Given the description of an element on the screen output the (x, y) to click on. 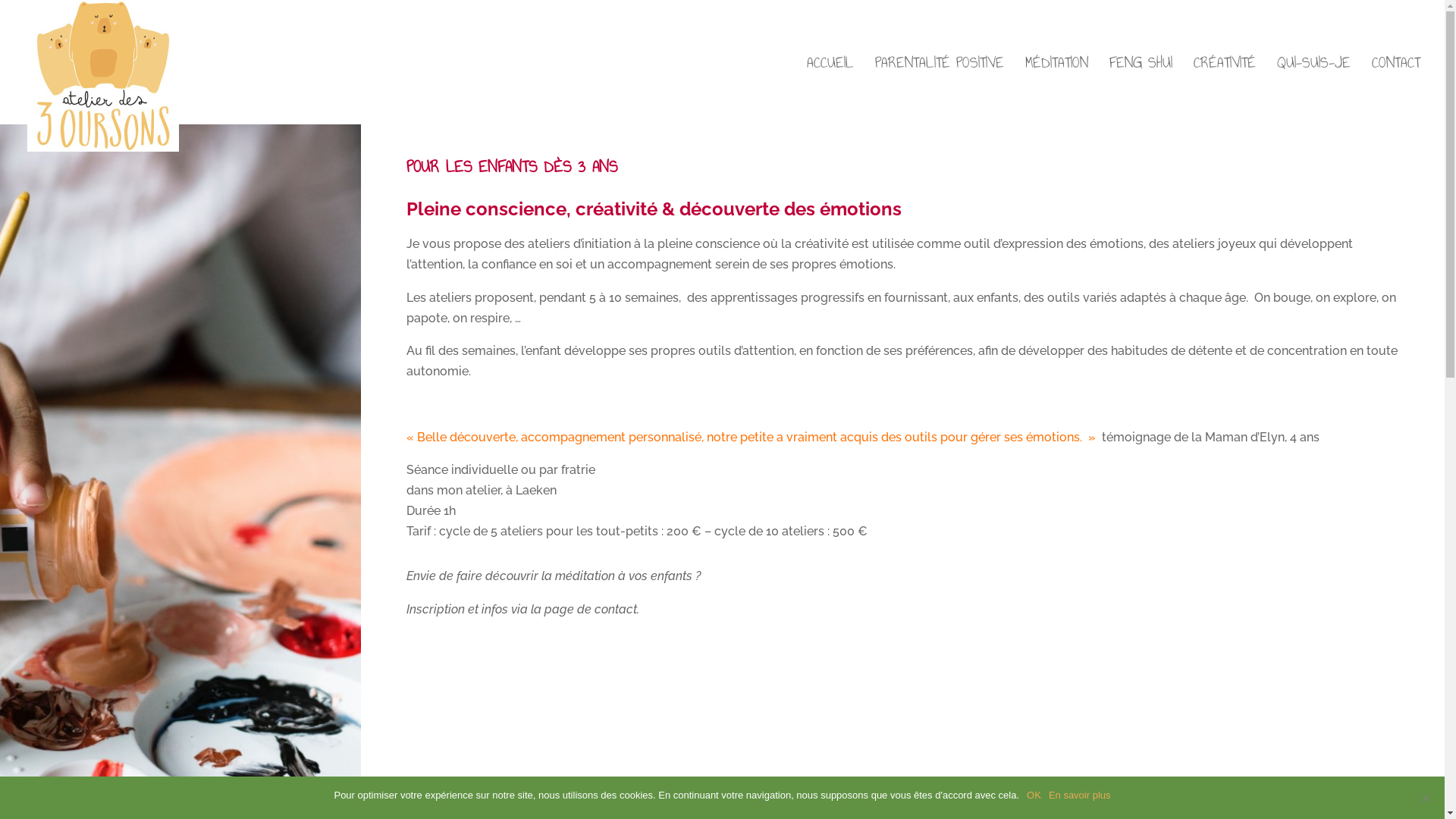
En savoir plus Element type: text (1079, 795)
CONTACT Element type: text (1395, 90)
OK Element type: text (1033, 795)
No Element type: hover (1425, 797)
QUI-SUIS-JE Element type: text (1313, 90)
FENG SHUI Element type: text (1140, 90)
ACCUEIL Element type: text (829, 90)
